Given the description of an element on the screen output the (x, y) to click on. 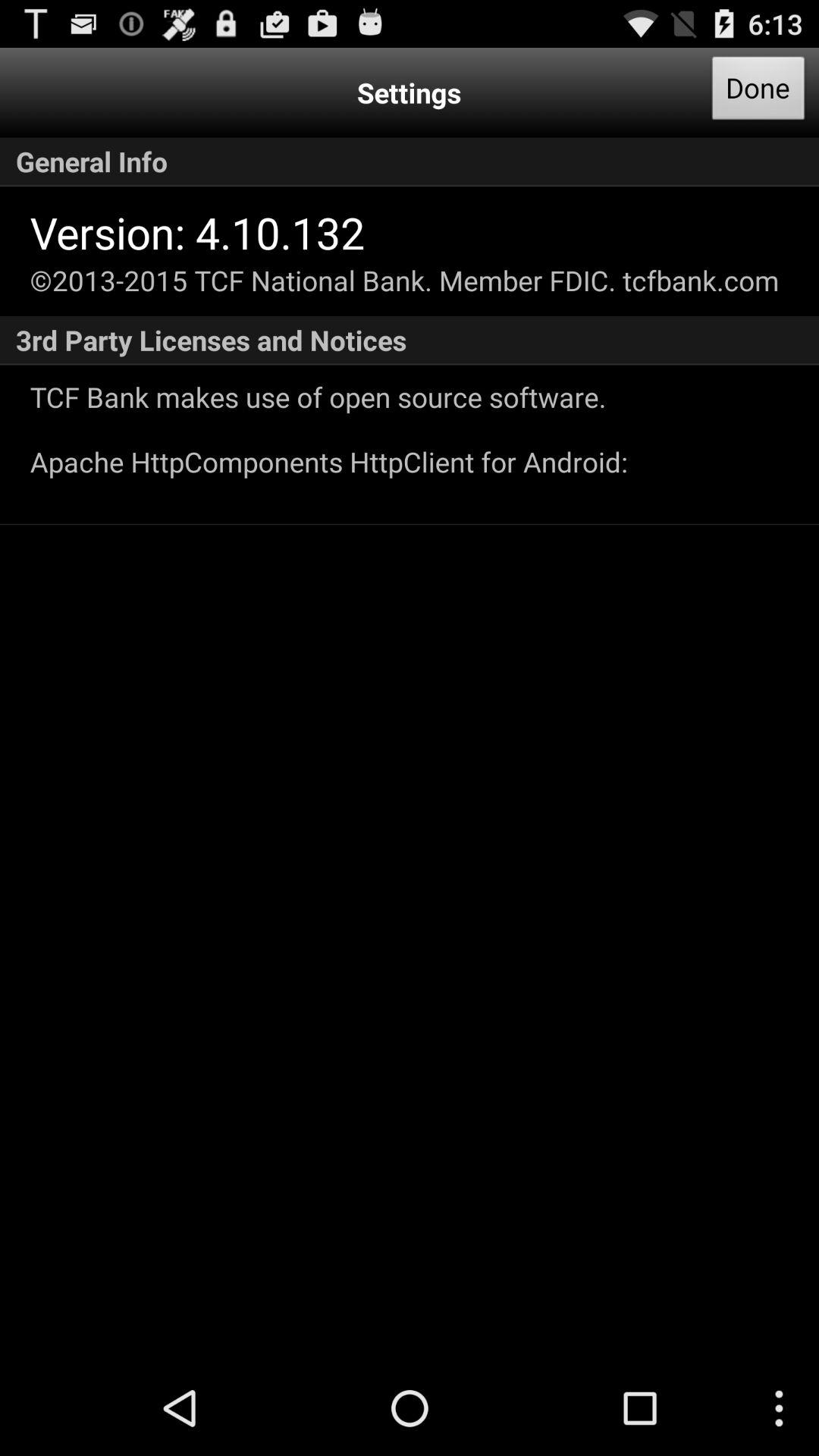
launch the item above tcf bank makes item (409, 340)
